Given the description of an element on the screen output the (x, y) to click on. 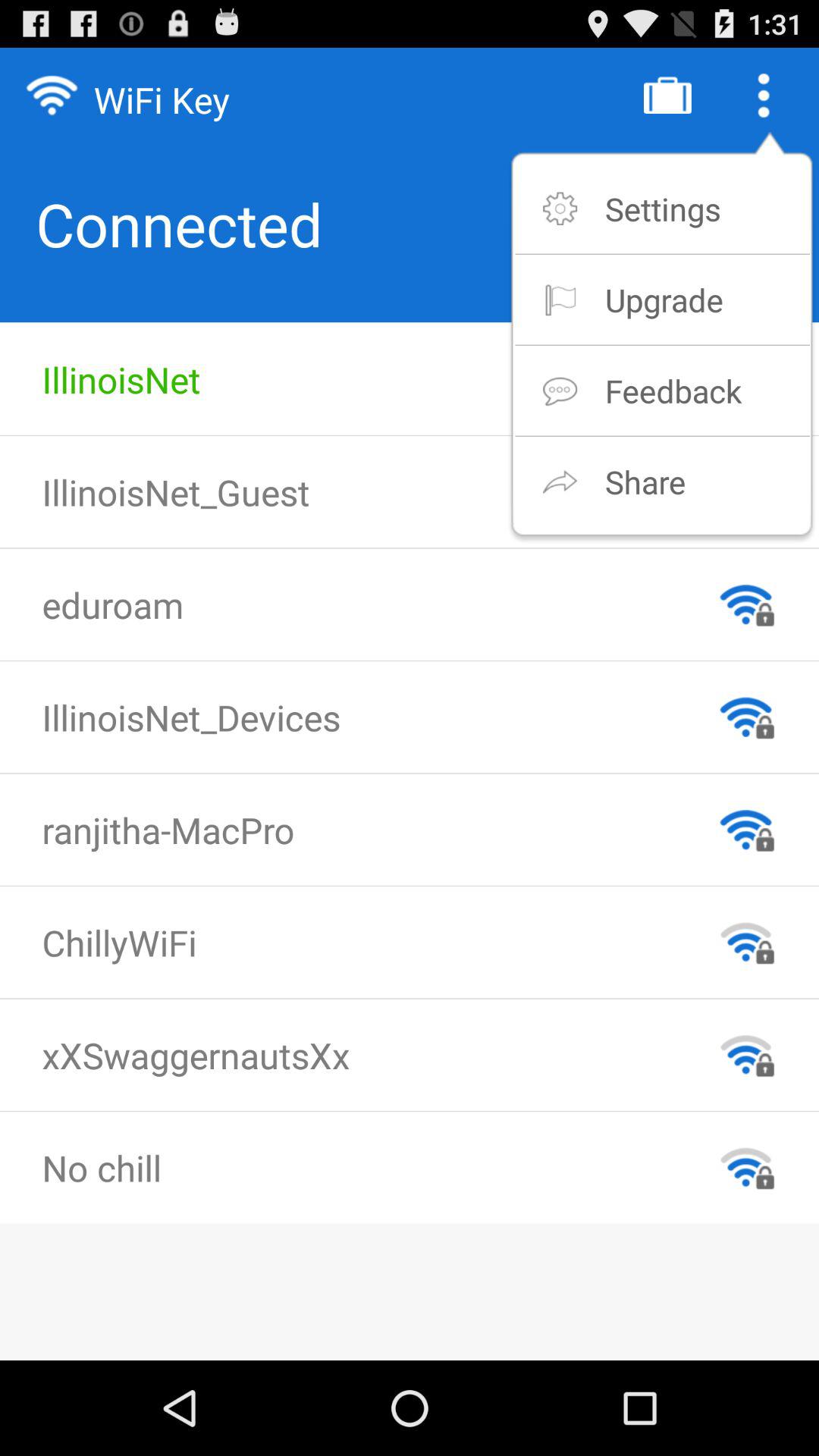
swipe until settings icon (663, 208)
